Given the description of an element on the screen output the (x, y) to click on. 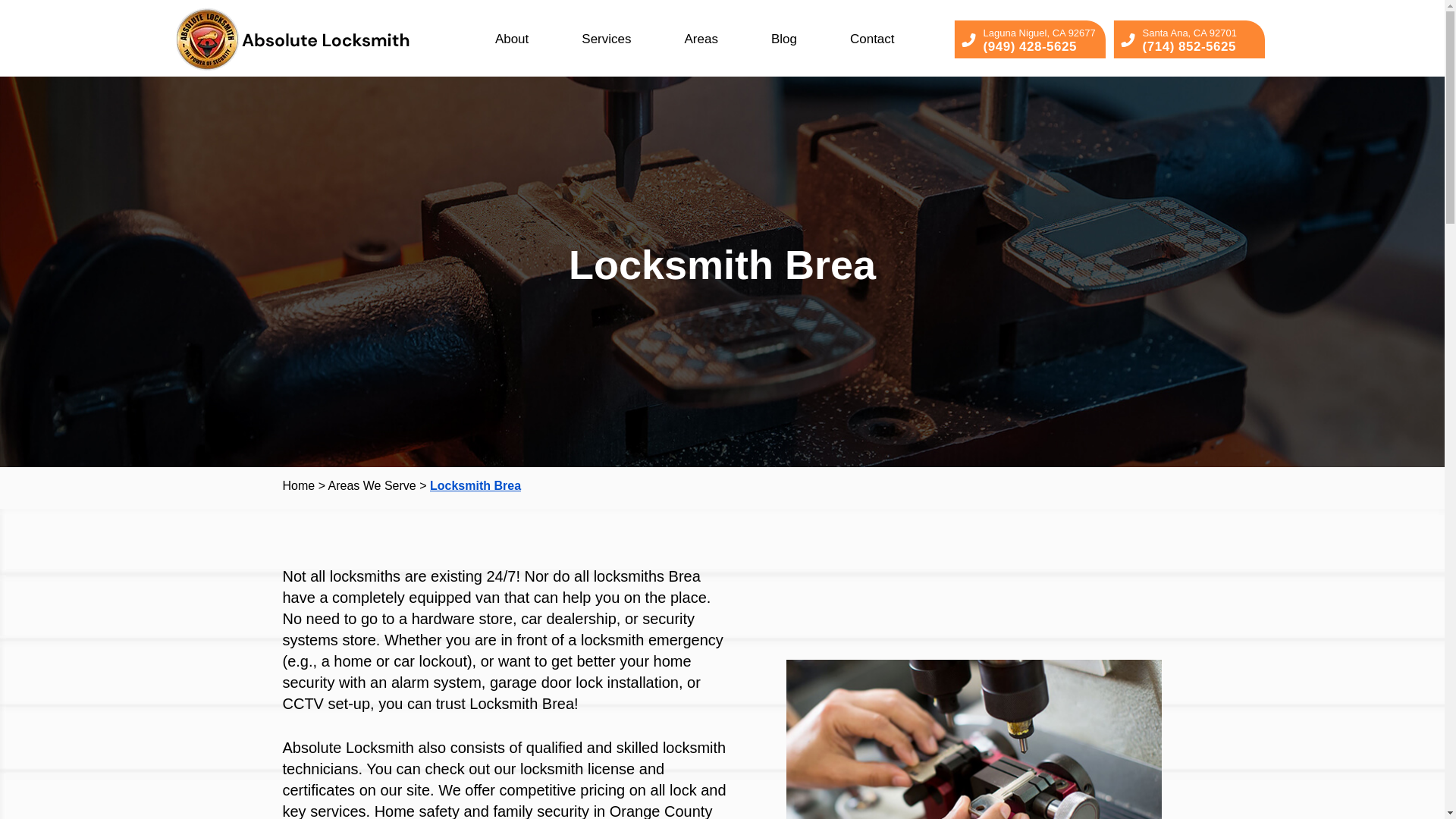
Services (605, 38)
Areas (700, 38)
About (511, 38)
